Given the description of an element on the screen output the (x, y) to click on. 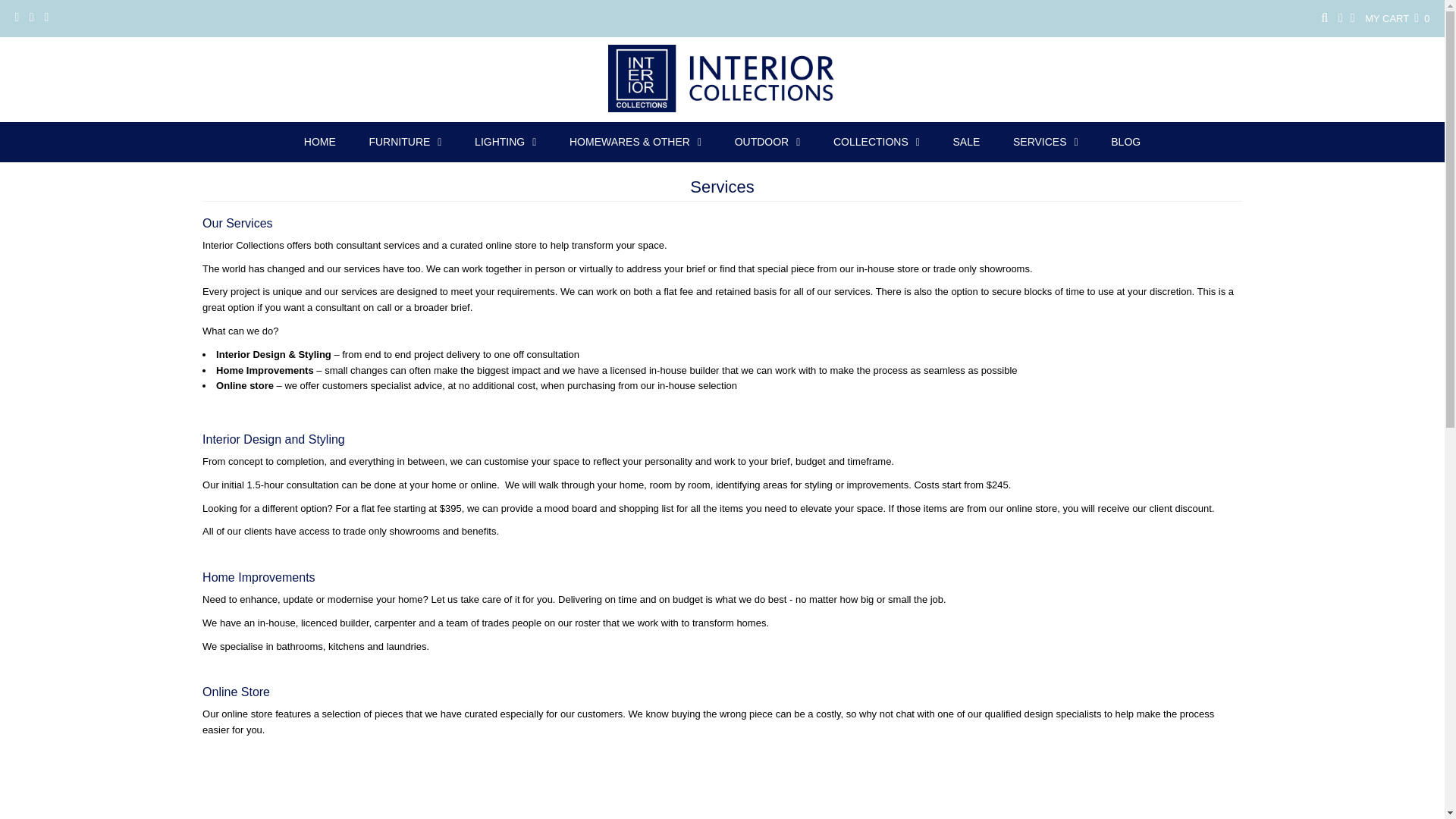
HOME (319, 141)
MY CART    0 (1397, 18)
LIGHTING (505, 141)
FURNITURE (405, 141)
